Given the description of an element on the screen output the (x, y) to click on. 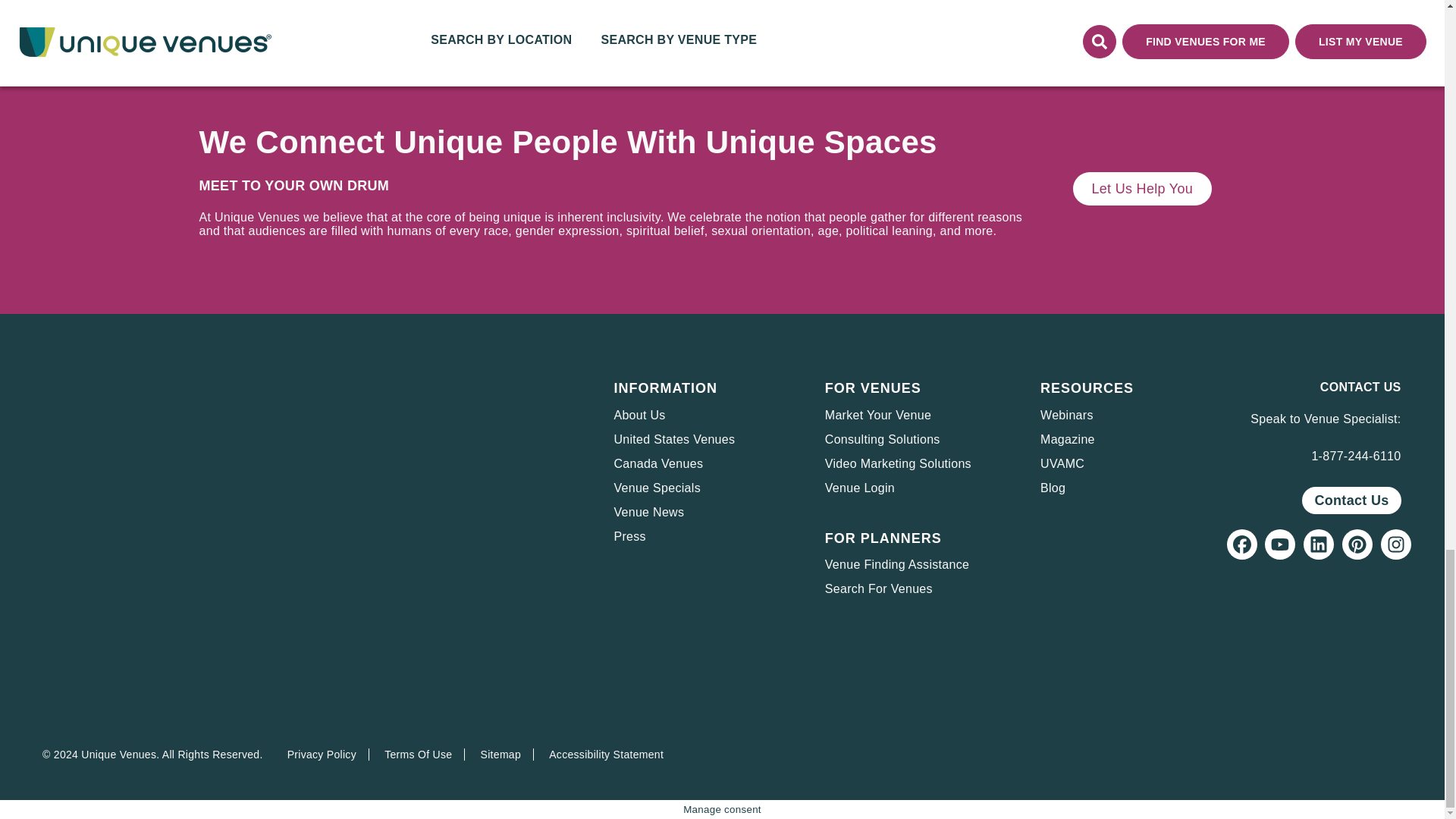
Company Contact Us Page Link (1350, 500)
Unique Venues Logo (93, 423)
Company Contact Number (1355, 455)
